Given the description of an element on the screen output the (x, y) to click on. 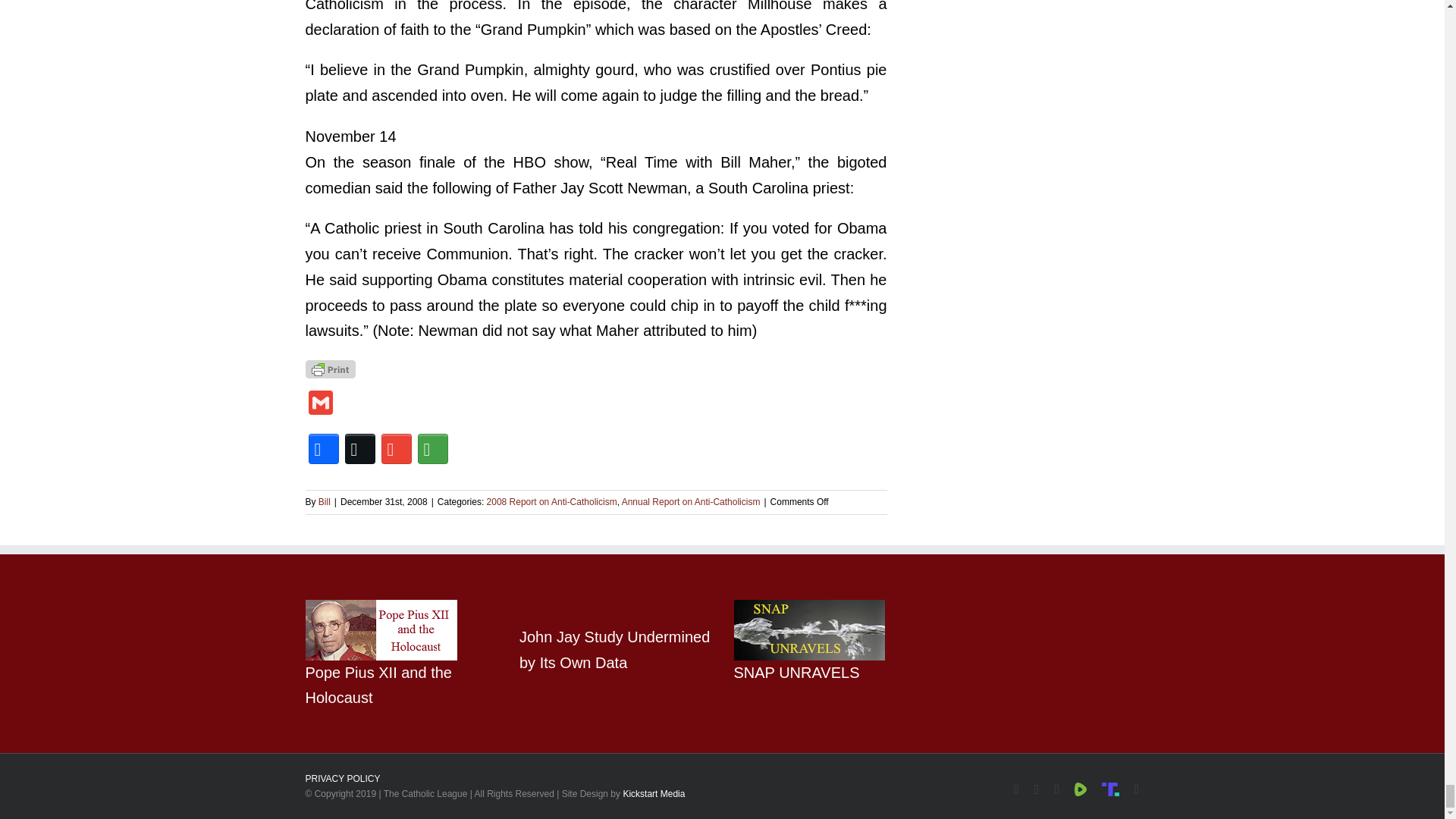
Facebook (322, 448)
Google Gmail (395, 448)
Gmail (319, 404)
Posts by Bill (324, 501)
More Options (431, 448)
